Given the description of an element on the screen output the (x, y) to click on. 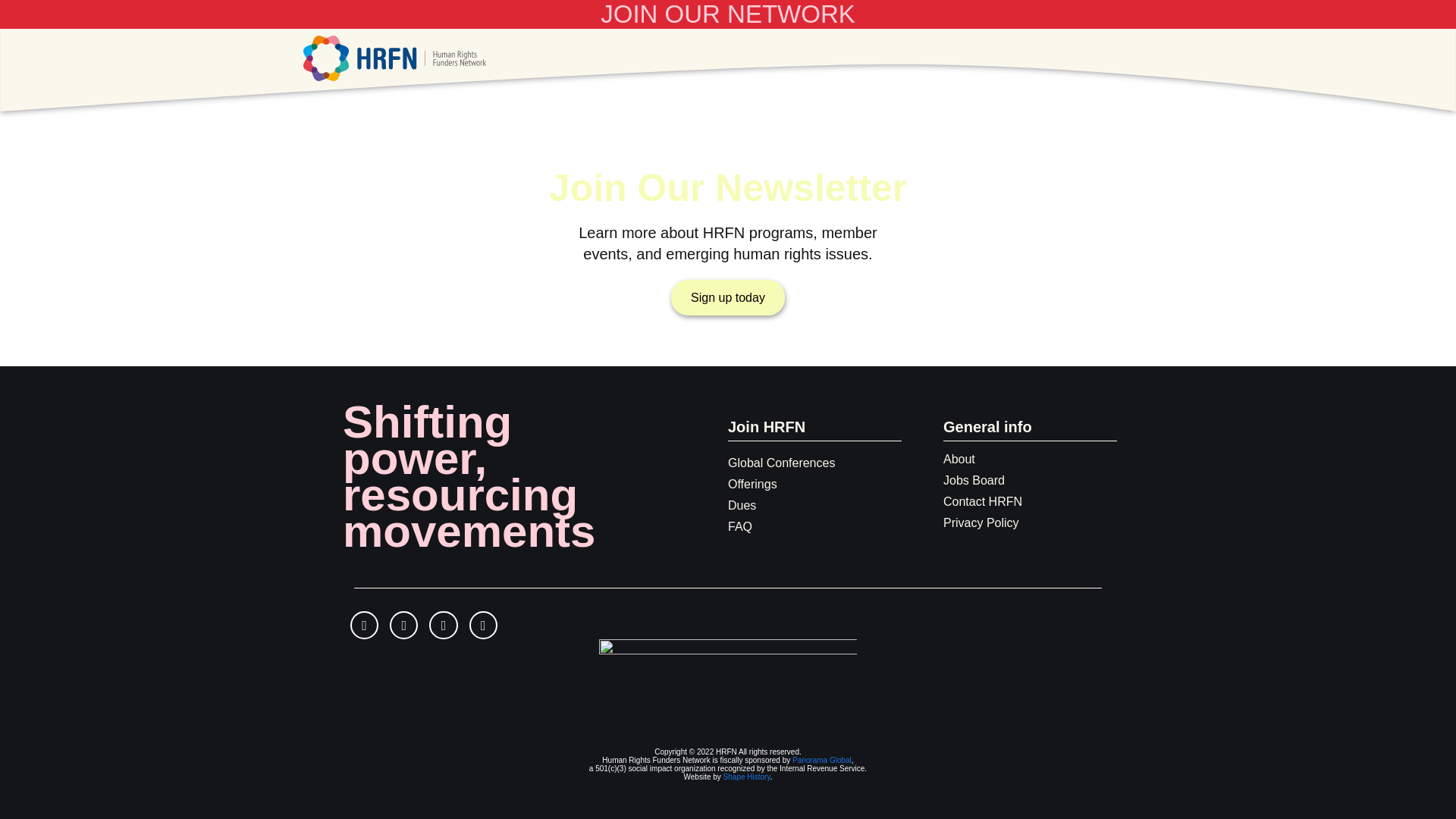
Offerings (752, 483)
Twitter (443, 624)
LinkedIn (482, 624)
Dues (741, 504)
logonewwhite (727, 674)
Facebook (364, 624)
Instagram (403, 624)
